Given the description of an element on the screen output the (x, y) to click on. 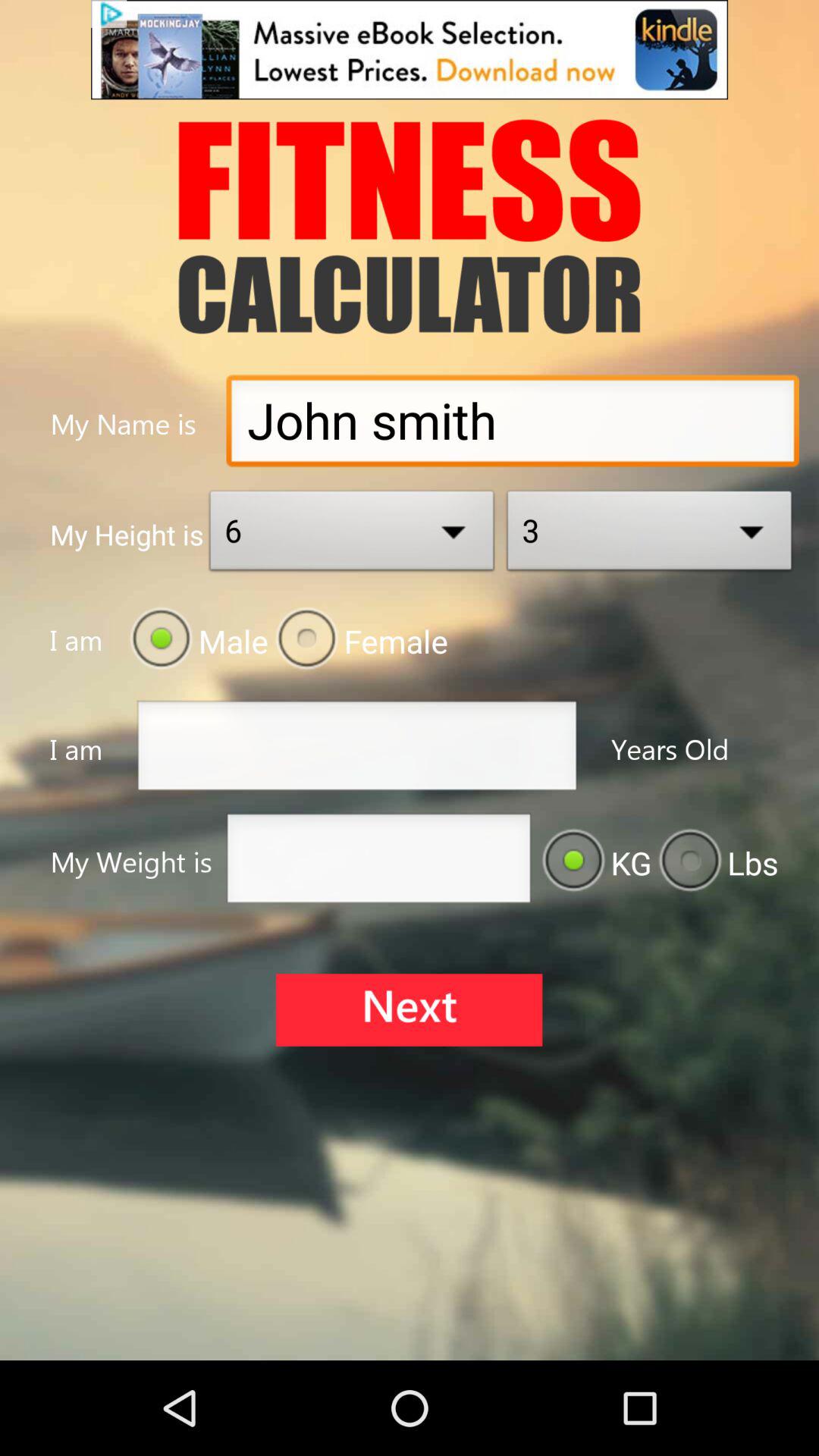
enter age (357, 749)
